Given the description of an element on the screen output the (x, y) to click on. 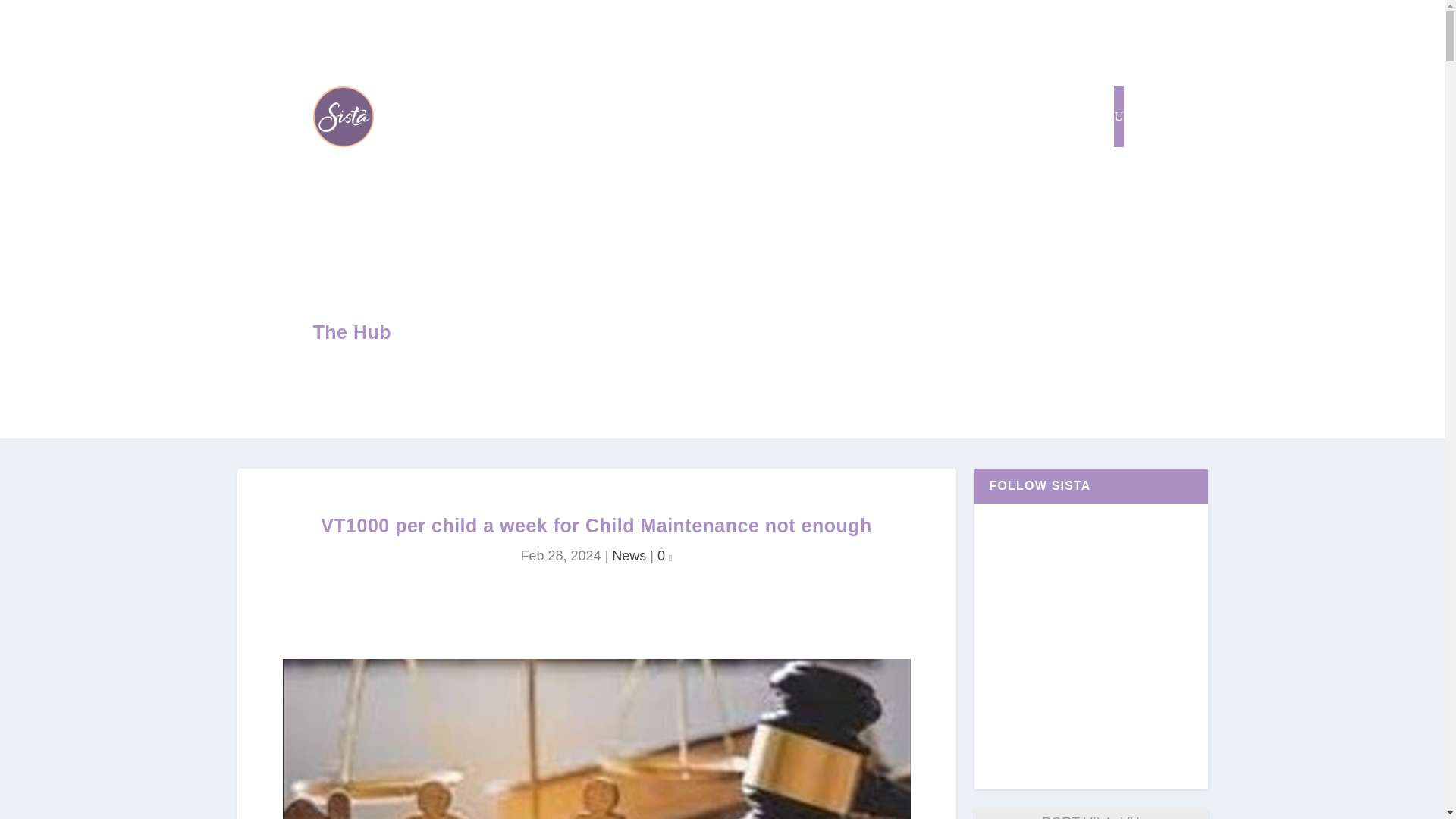
0 (664, 555)
Sista Gat Style (876, 116)
Food and Nutrition (711, 334)
News (628, 555)
Events (588, 334)
Wellbeing and Self Care (829, 334)
Career and Finance (950, 334)
News (541, 334)
The Hub (352, 332)
Sports (635, 334)
